Given the description of an element on the screen output the (x, y) to click on. 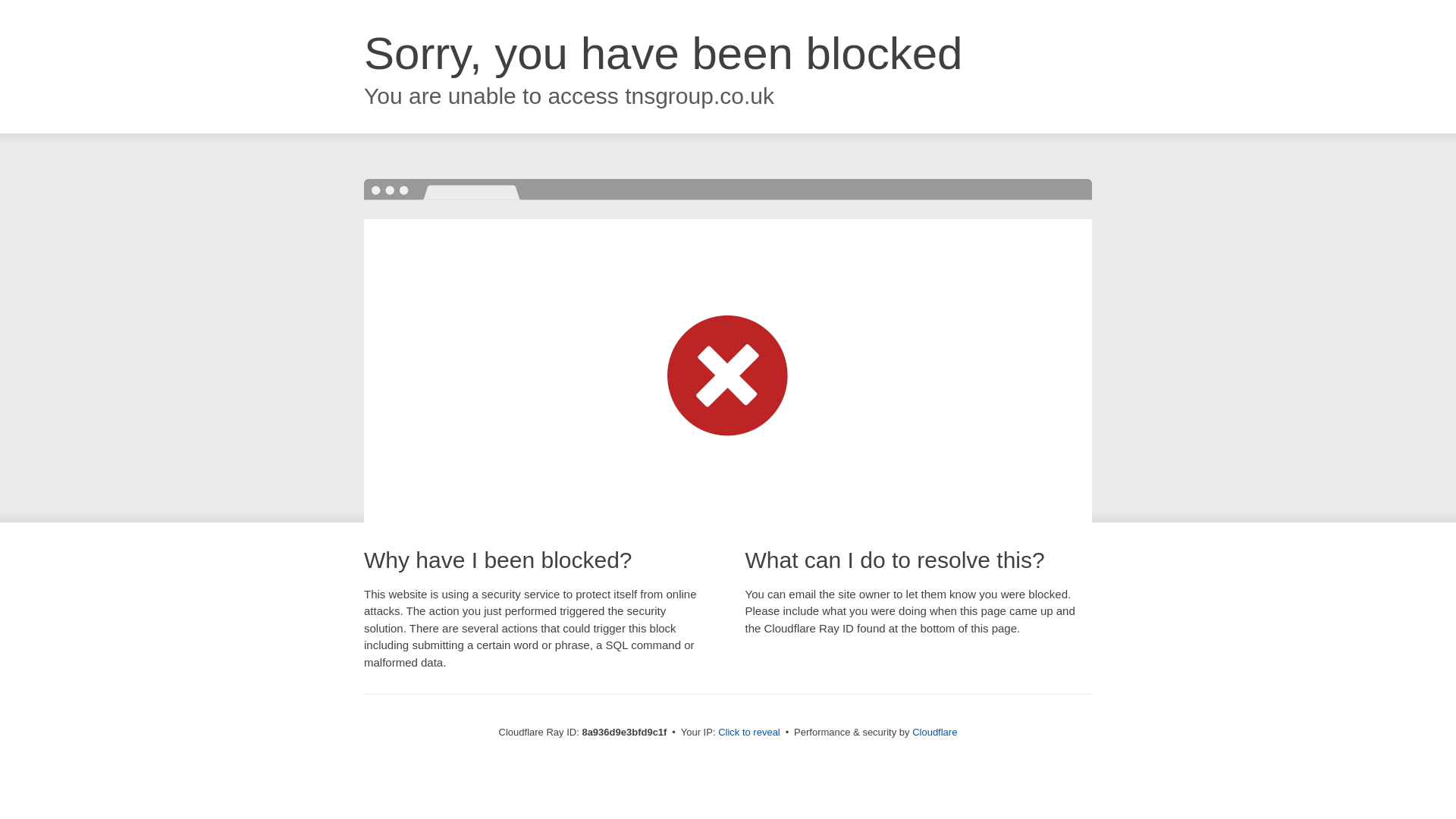
Cloudflare (934, 731)
Click to reveal (748, 732)
